Given the description of an element on the screen output the (x, y) to click on. 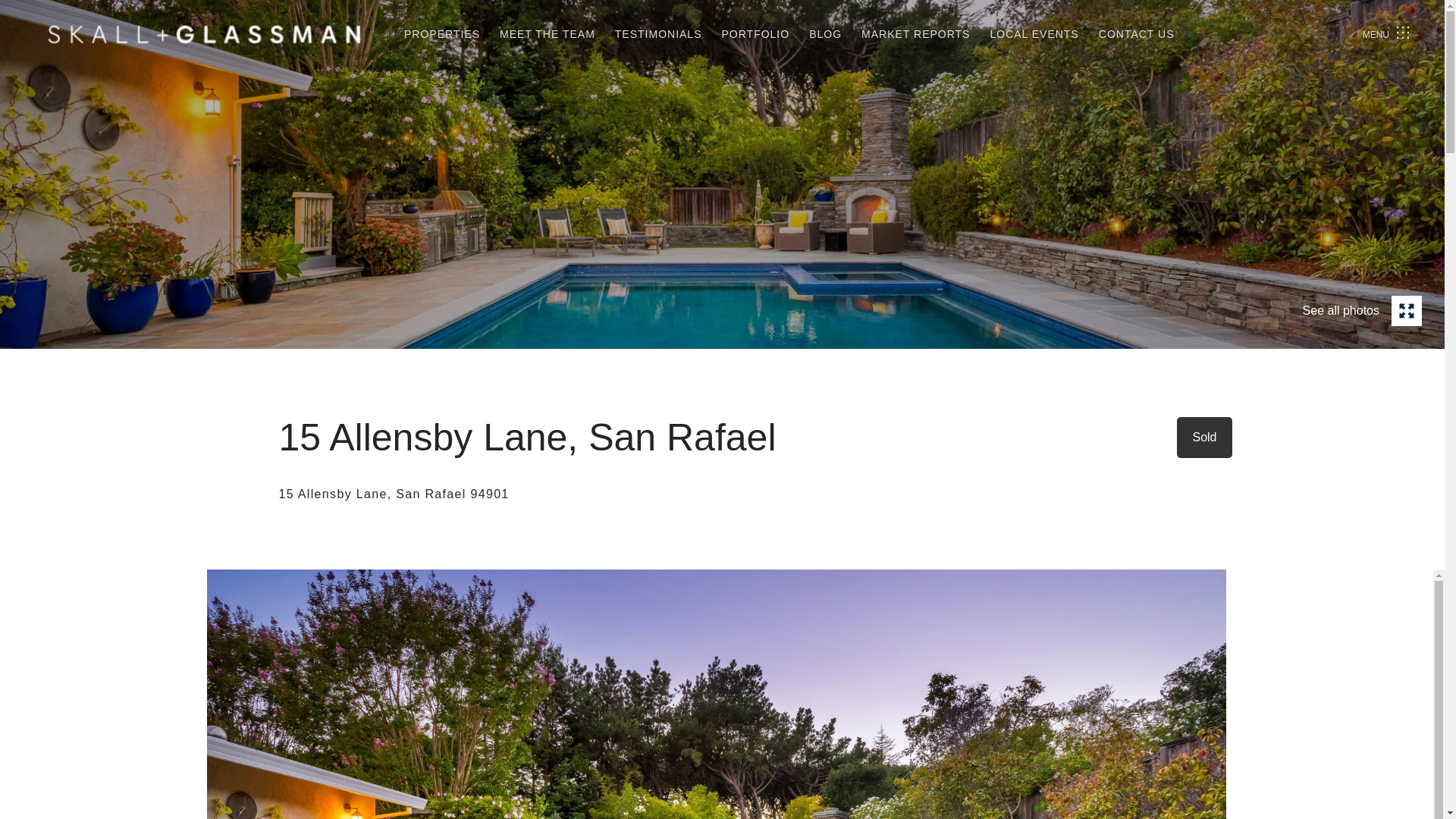
LOCAL EVENTS (1034, 33)
PORTFOLIO (756, 33)
MARKET REPORTS (915, 33)
MEET THE TEAM (547, 33)
MENU (1387, 34)
PROPERTIES (442, 33)
CONTACT US (1136, 33)
BLOG (825, 33)
TESTIMONIALS (657, 33)
